Given the description of an element on the screen output the (x, y) to click on. 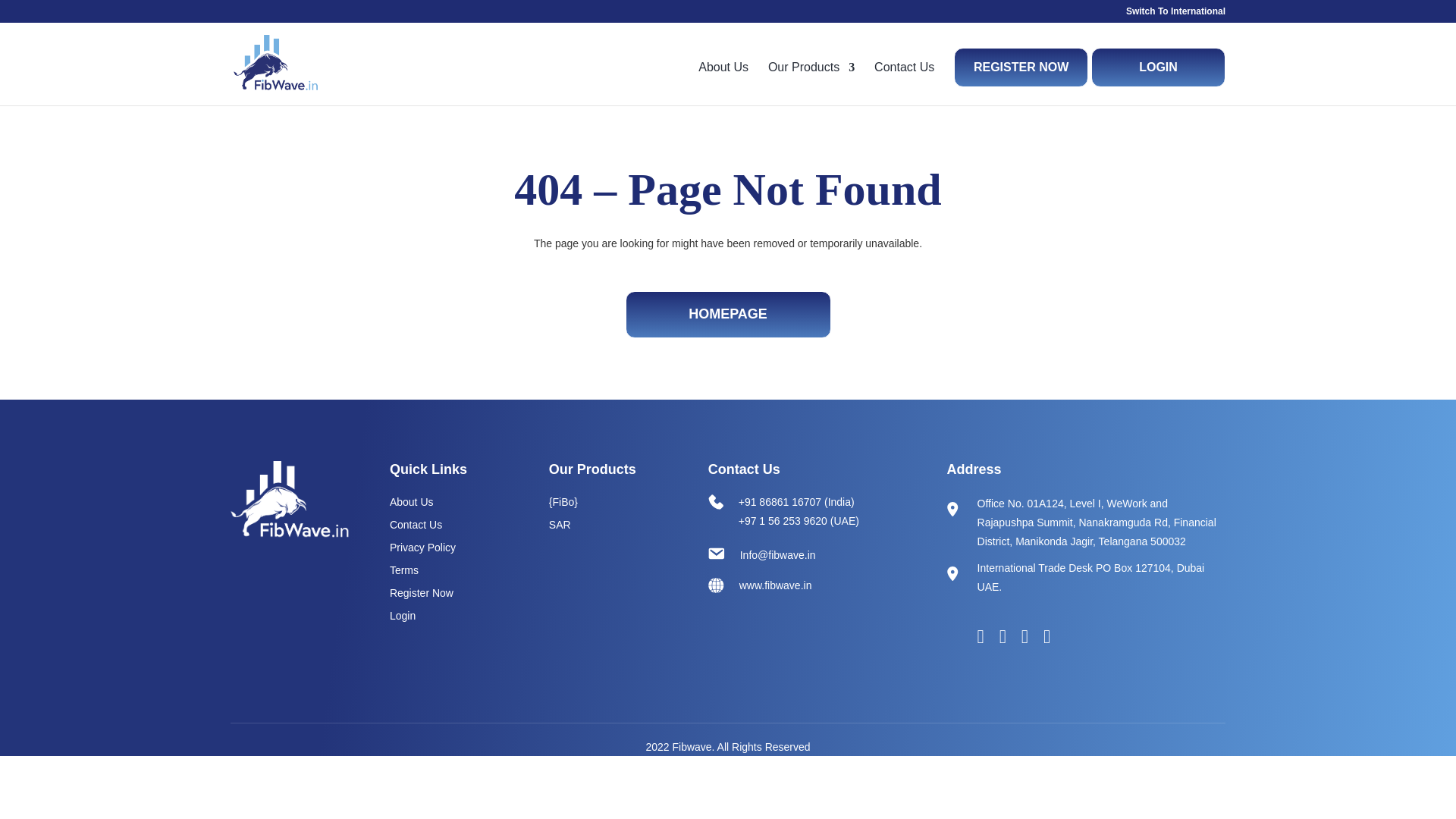
Register Now (449, 592)
Contact Us (904, 79)
SAR (608, 524)
www.fibwave.in (807, 585)
LOGIN (1157, 67)
Terms (449, 570)
REGISTER NOW (1020, 67)
Our Products (811, 79)
About Us (449, 501)
Contact Us (449, 524)
